Given the description of an element on the screen output the (x, y) to click on. 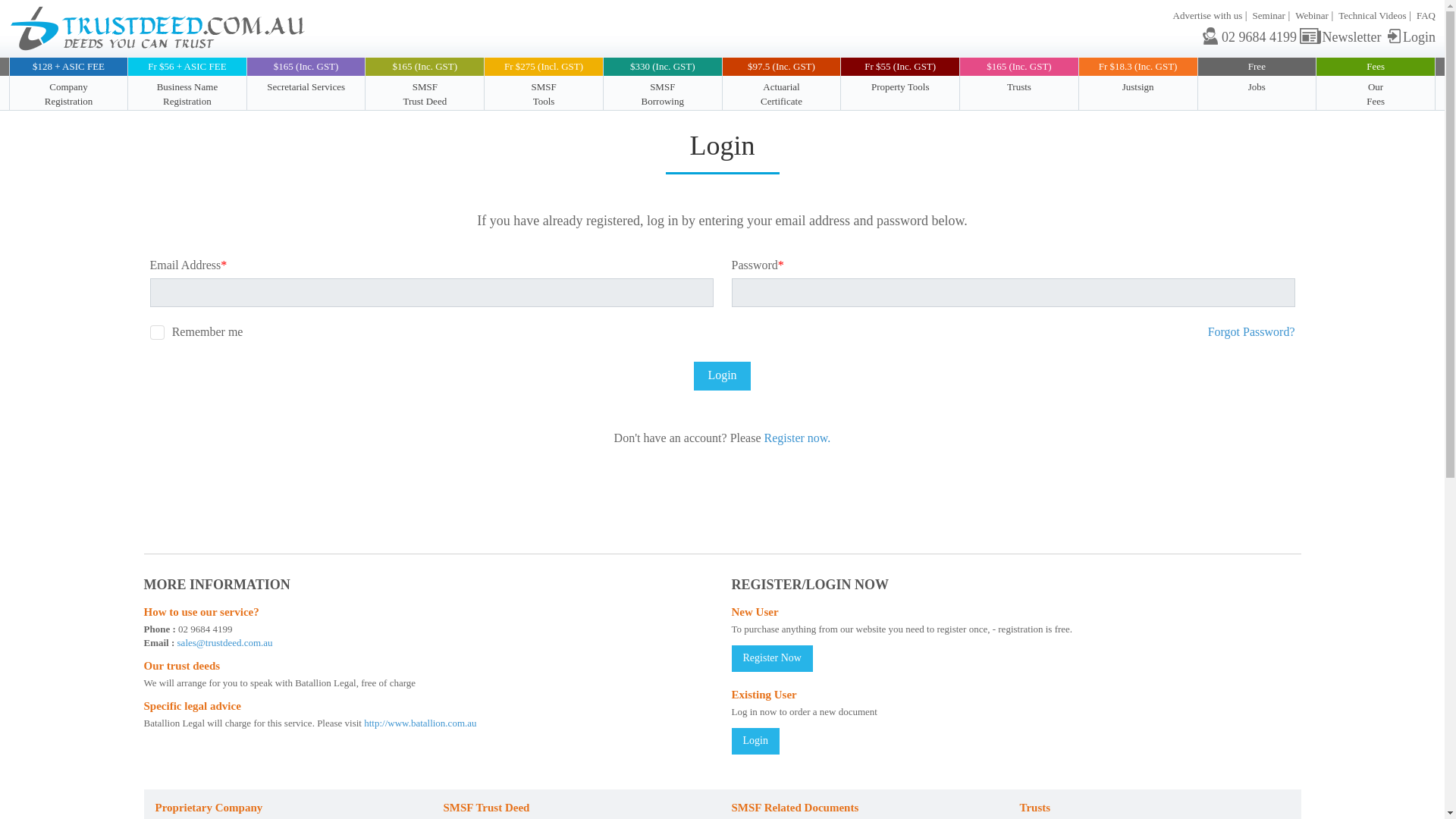
FAQ (1425, 15)
Seminar (1268, 15)
Technical Videos (1372, 15)
1 (156, 332)
Webinar (1311, 15)
Login (721, 375)
02 9684 4199 (1249, 36)
Newsletter (1340, 36)
Login (1409, 36)
Advertise with us (1208, 15)
